Given the description of an element on the screen output the (x, y) to click on. 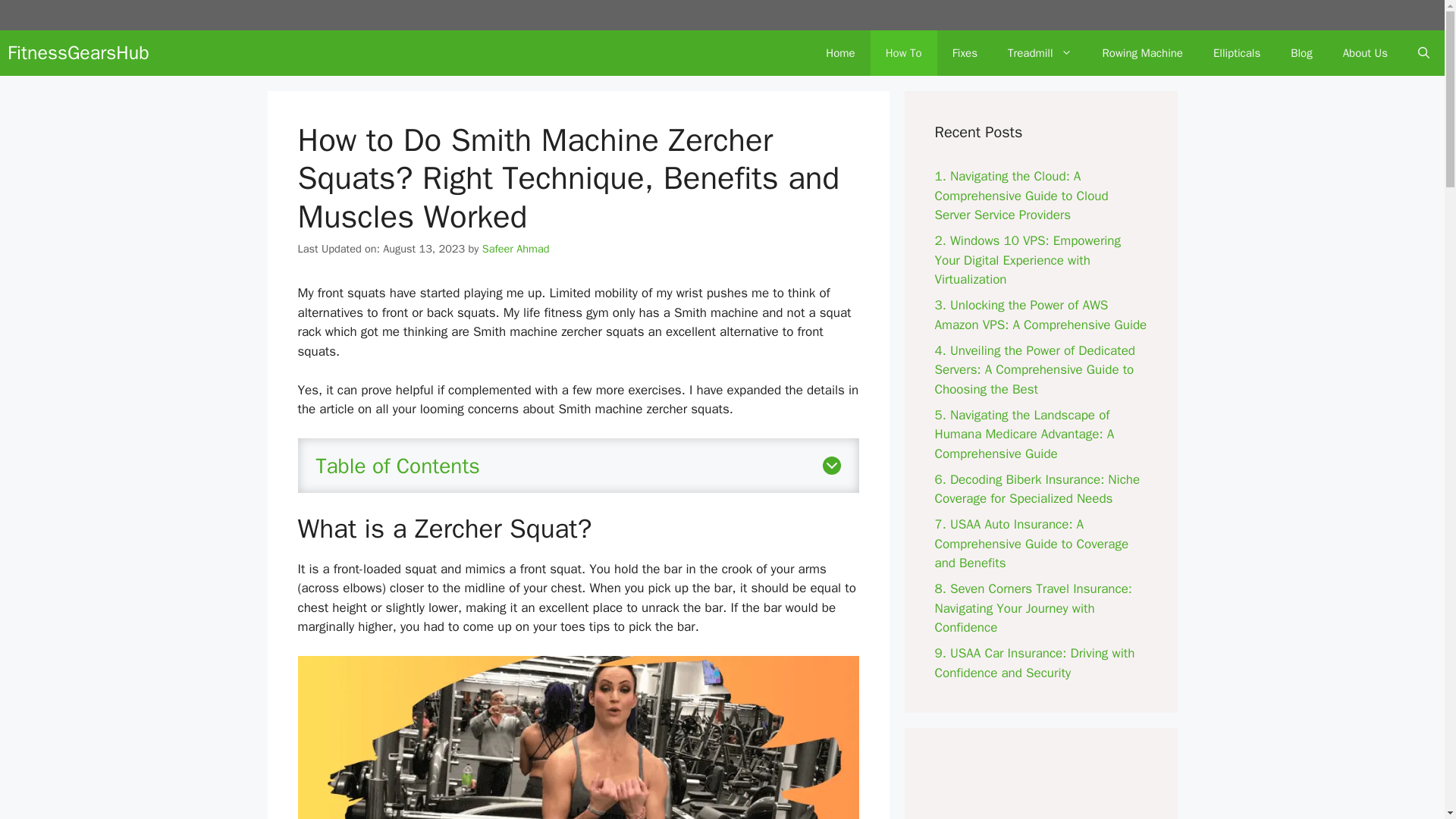
Safeer Ahmad (515, 248)
Treadmill (1039, 53)
Fixes (964, 53)
How To (903, 53)
Rowing Machine (1142, 53)
Blog (1300, 53)
Home (839, 53)
View all posts by Safeer Ahmad (515, 248)
Ellipticals (1236, 53)
FitnessGearsHub (78, 53)
